Given the description of an element on the screen output the (x, y) to click on. 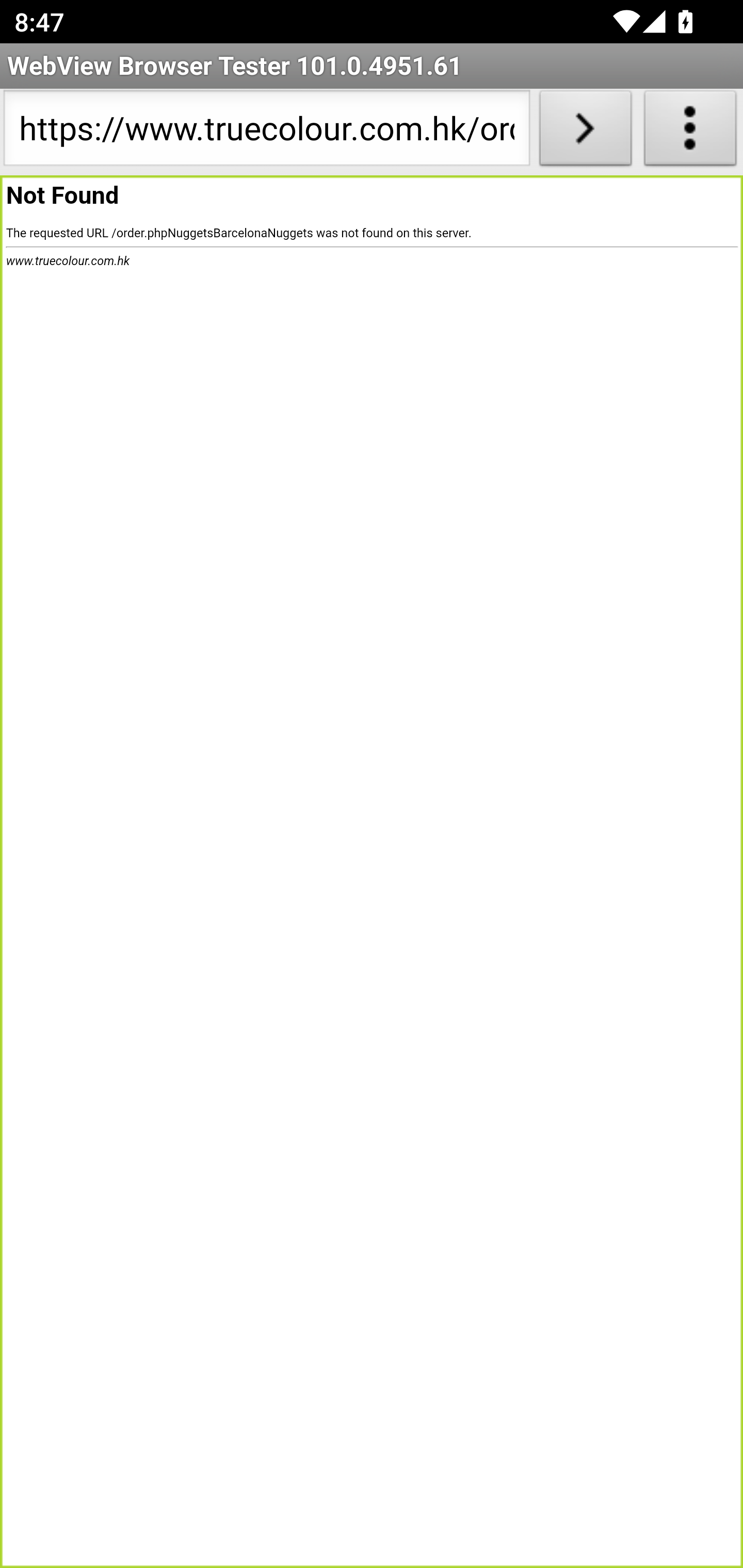
Load URL (585, 132)
About WebView (690, 132)
